Given the description of an element on the screen output the (x, y) to click on. 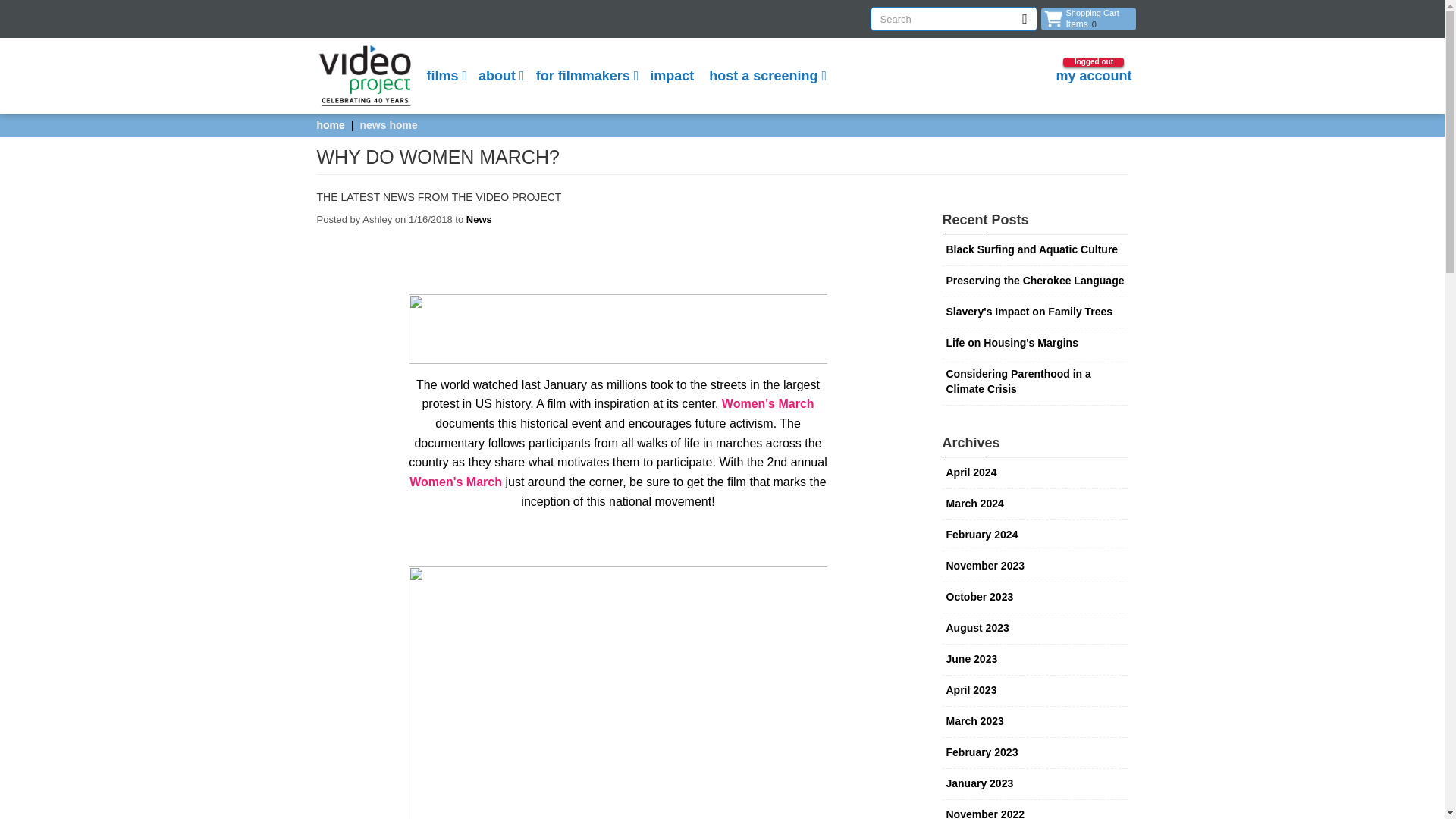
Women's March (767, 403)
host a screening (765, 75)
impact (671, 75)
Search Button (1093, 75)
News (1024, 18)
news home (478, 219)
Women's March (387, 124)
for filmmakers (455, 481)
home (585, 75)
